Given the description of an element on the screen output the (x, y) to click on. 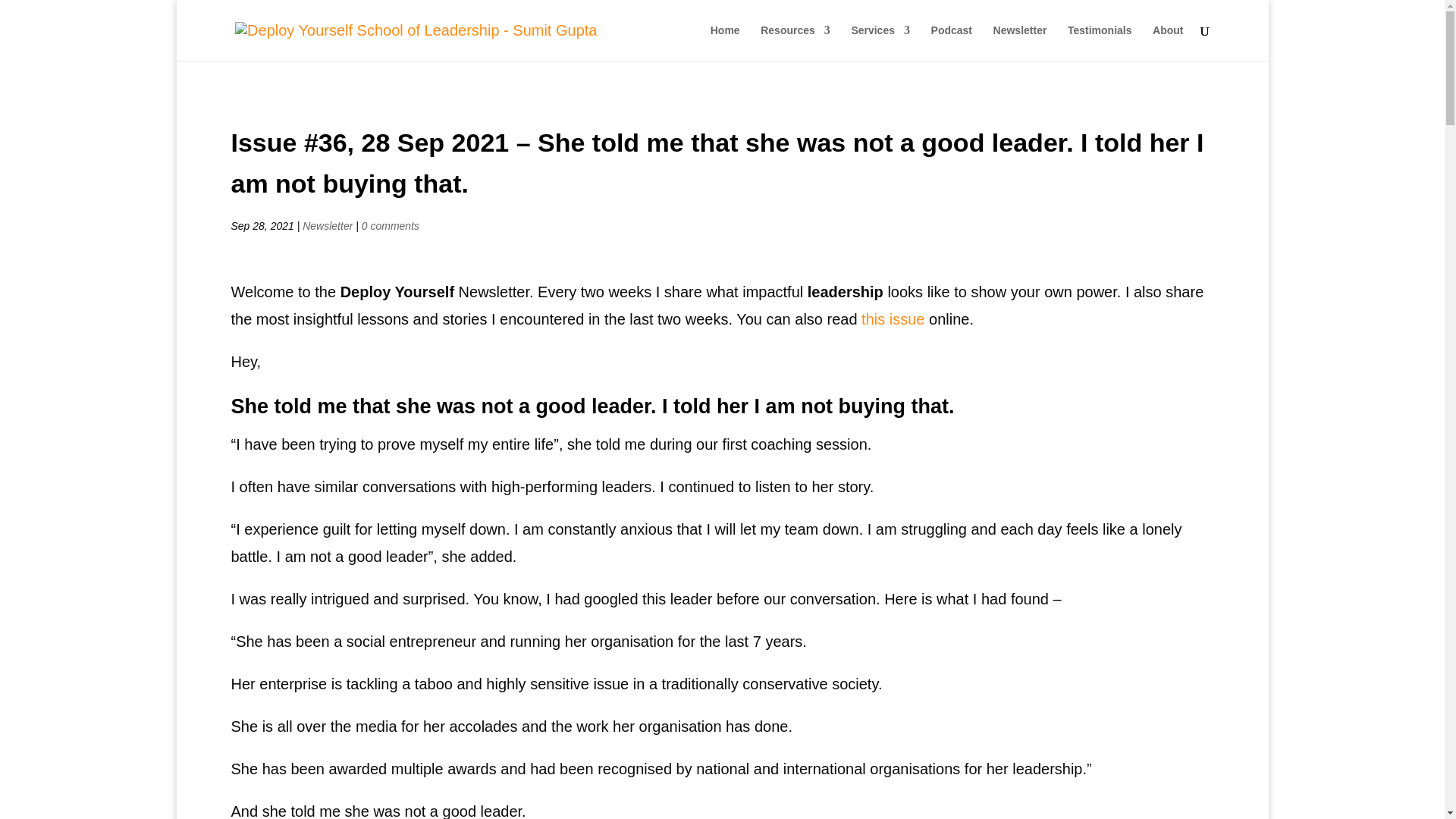
Podcast (951, 42)
Newsletter (1019, 42)
Services (880, 42)
this issue (892, 319)
Testimonials (1099, 42)
issue-36 28-sep-2021 (892, 319)
Resources (794, 42)
0 comments (390, 225)
Newsletter (327, 225)
